Given the description of an element on the screen output the (x, y) to click on. 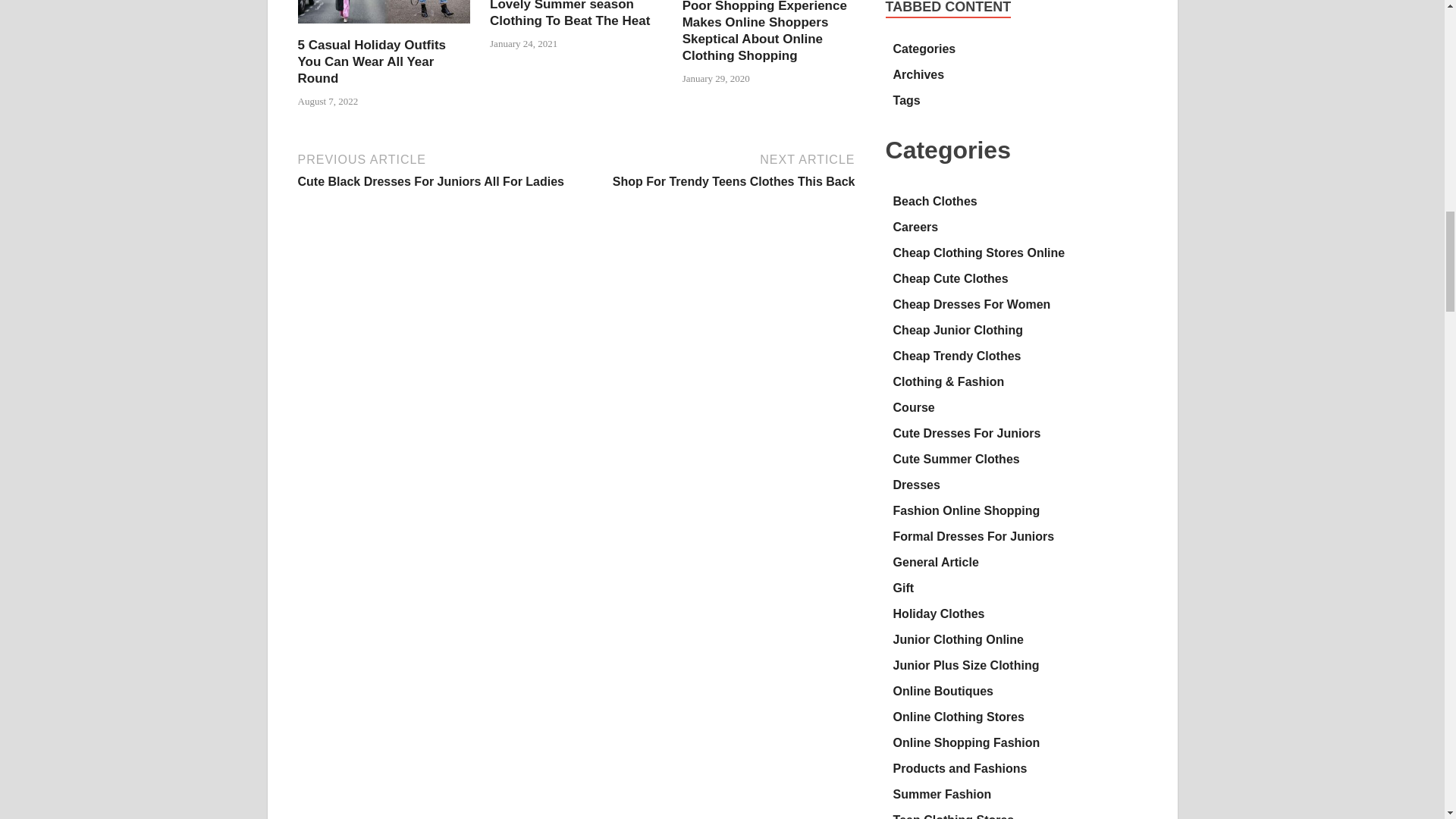
5 Casual Holiday Outfits You Can Wear All Year Round (371, 61)
5 Casual Holiday Outfits You Can Wear All Year Round (383, 27)
